Given the description of an element on the screen output the (x, y) to click on. 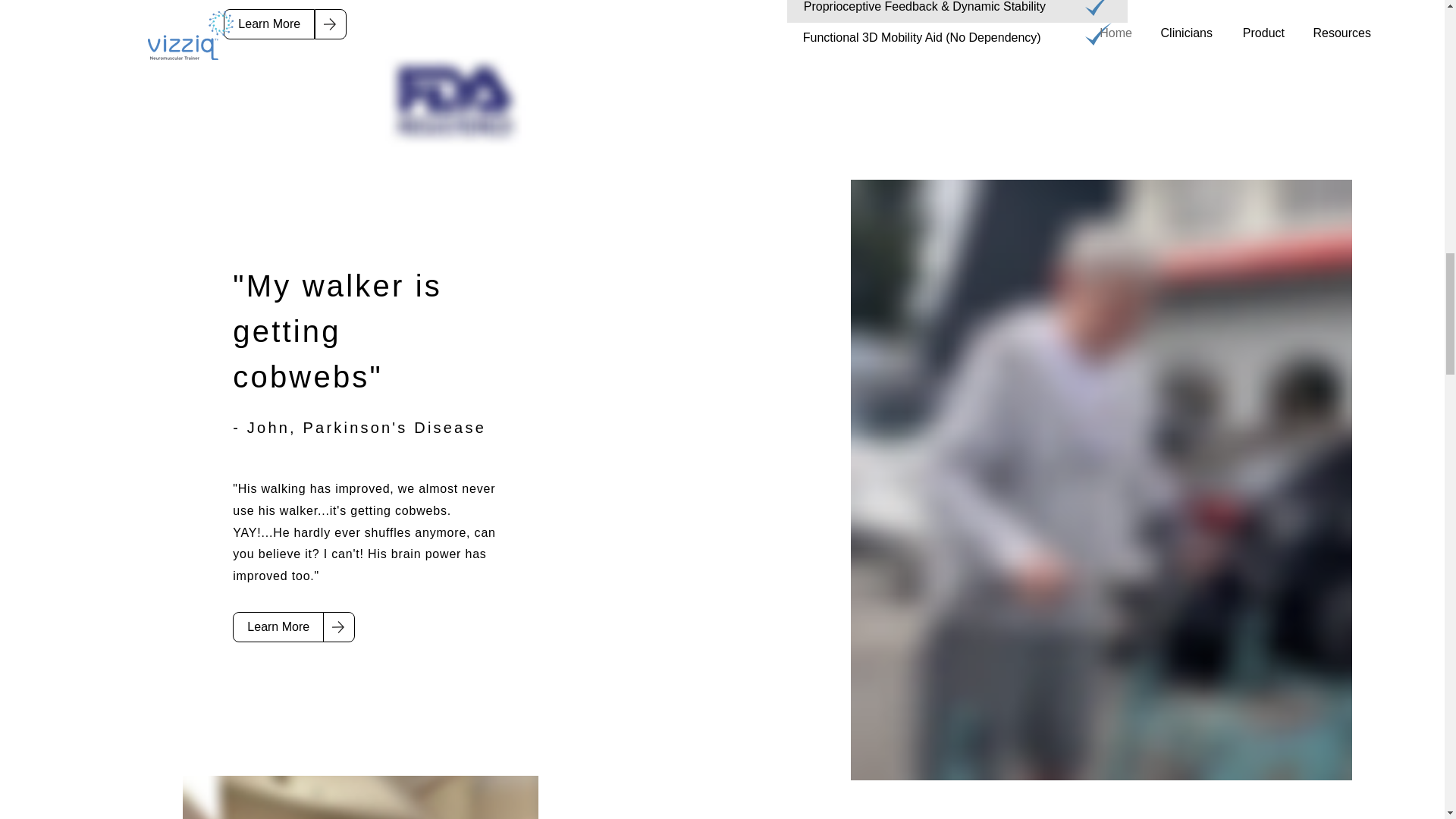
Deni Madden.png (360, 797)
Learn More (269, 24)
